Given the description of an element on the screen output the (x, y) to click on. 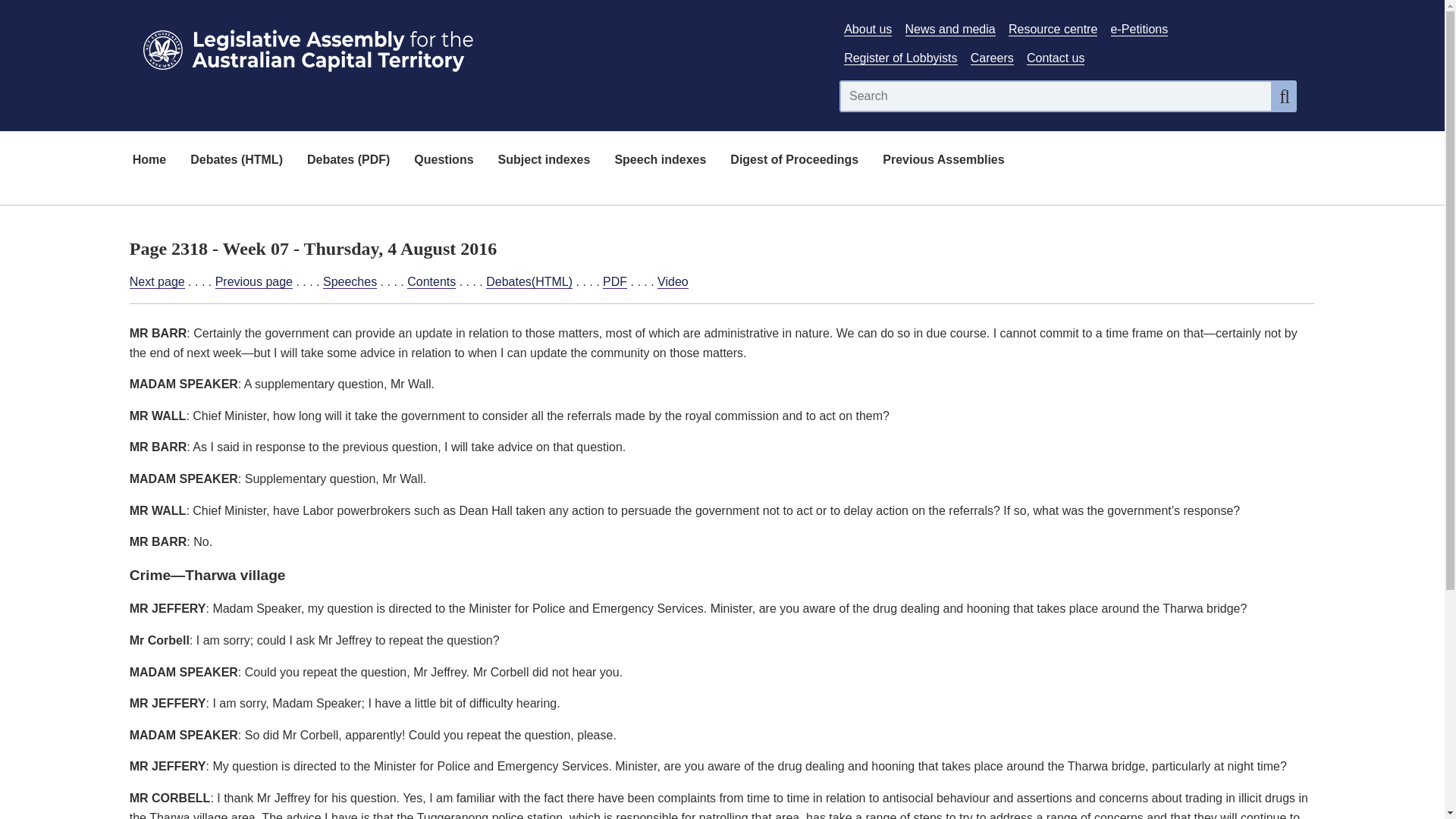
Register of Lobbyists (900, 58)
Digest of Proceedings (793, 160)
Link to Careers (992, 58)
Link to About Us (867, 29)
Next page (156, 282)
Link to e-Petitions (1139, 29)
Link to Register of Lobbyists (900, 58)
Search (1284, 96)
Subject indexes (544, 160)
Speeches (350, 282)
Link to News and media (950, 29)
Home (148, 160)
Search input field (1056, 96)
Link to Contact Us (1055, 58)
e-Petitions (1139, 29)
